Given the description of an element on the screen output the (x, y) to click on. 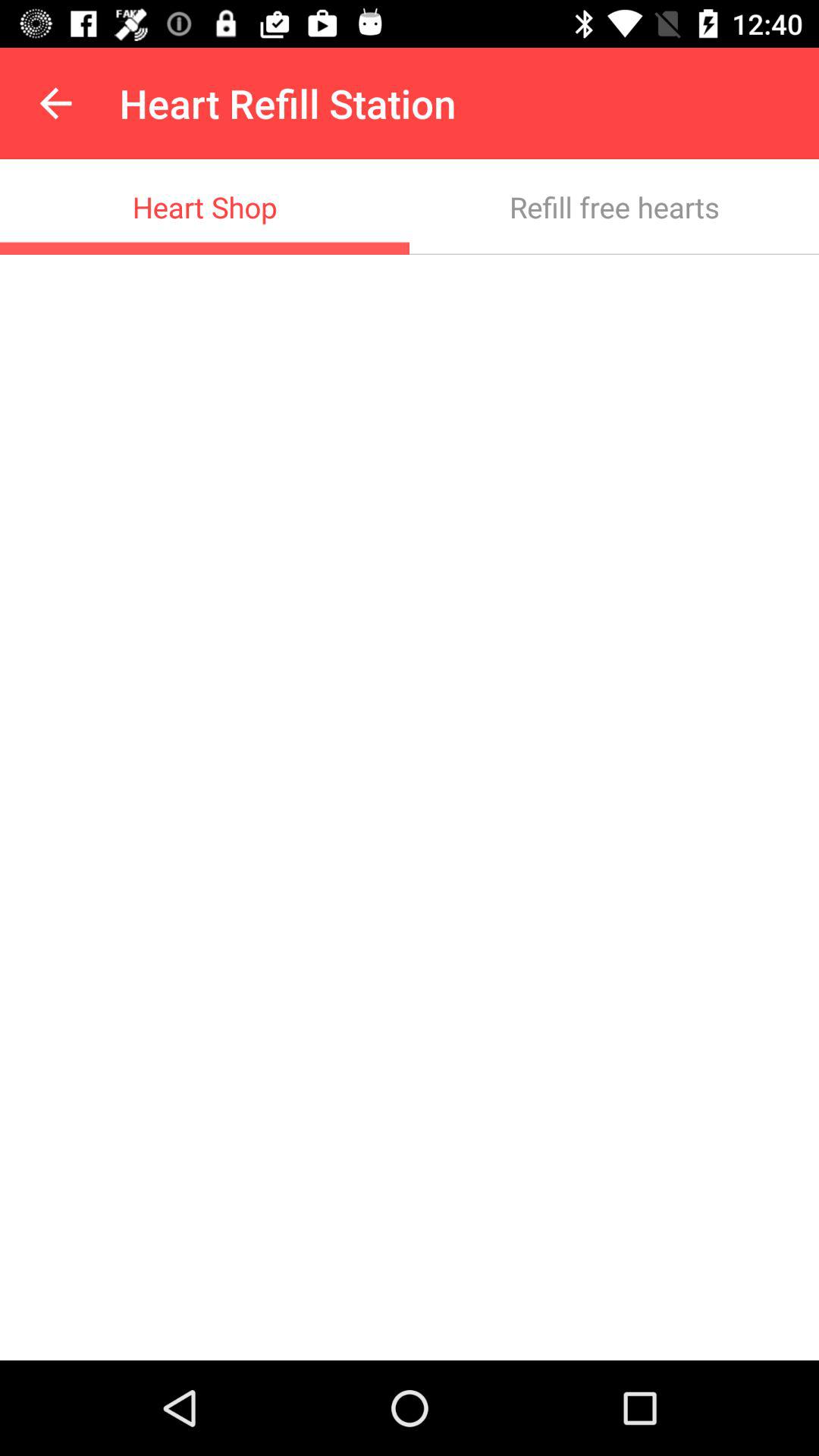
press the icon above the heart shop icon (55, 103)
